Given the description of an element on the screen output the (x, y) to click on. 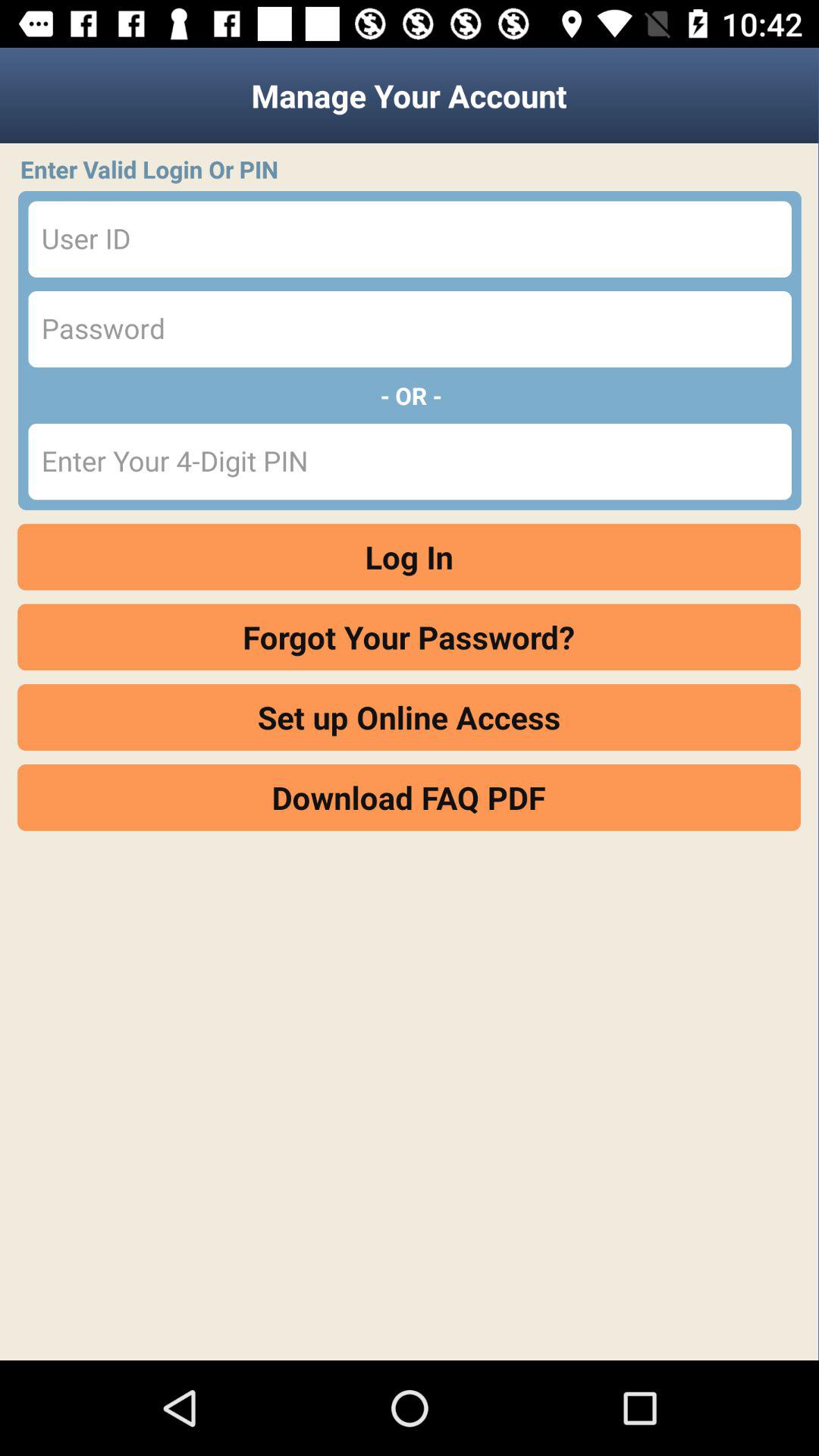
choose item below log in (408, 637)
